Given the description of an element on the screen output the (x, y) to click on. 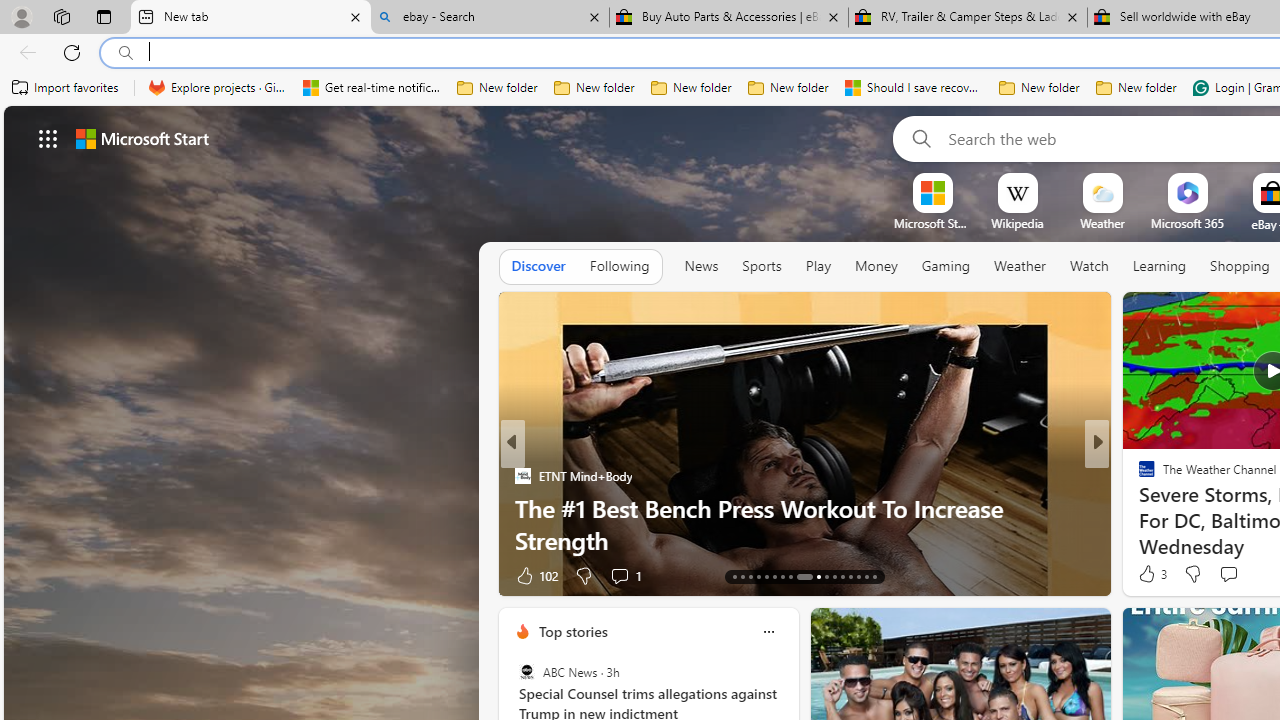
Microsoft start (142, 138)
MUO (1138, 507)
AutomationID: tab-14 (742, 576)
Shopping (1240, 265)
TheStreet (1138, 507)
353 Like (1151, 574)
